Given the description of an element on the screen output the (x, y) to click on. 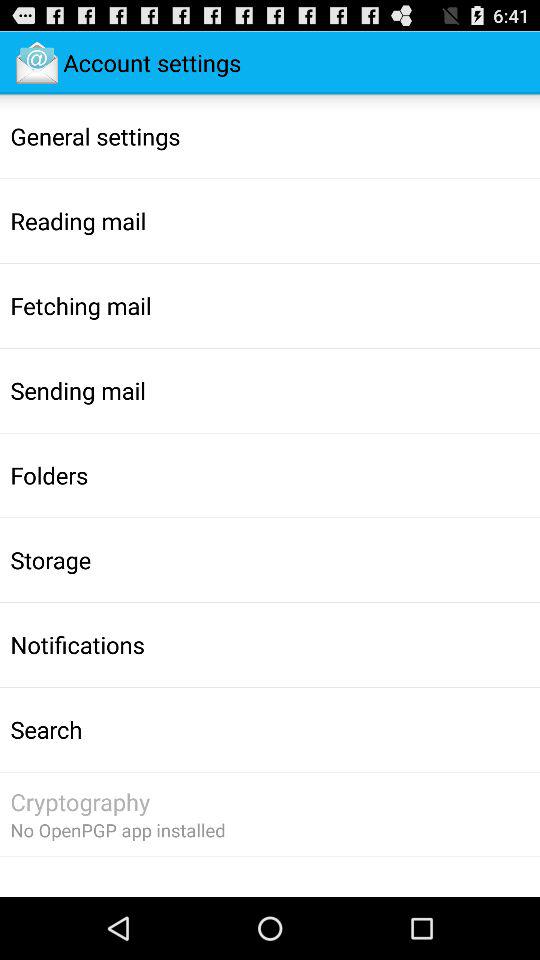
swipe until search (46, 729)
